Given the description of an element on the screen output the (x, y) to click on. 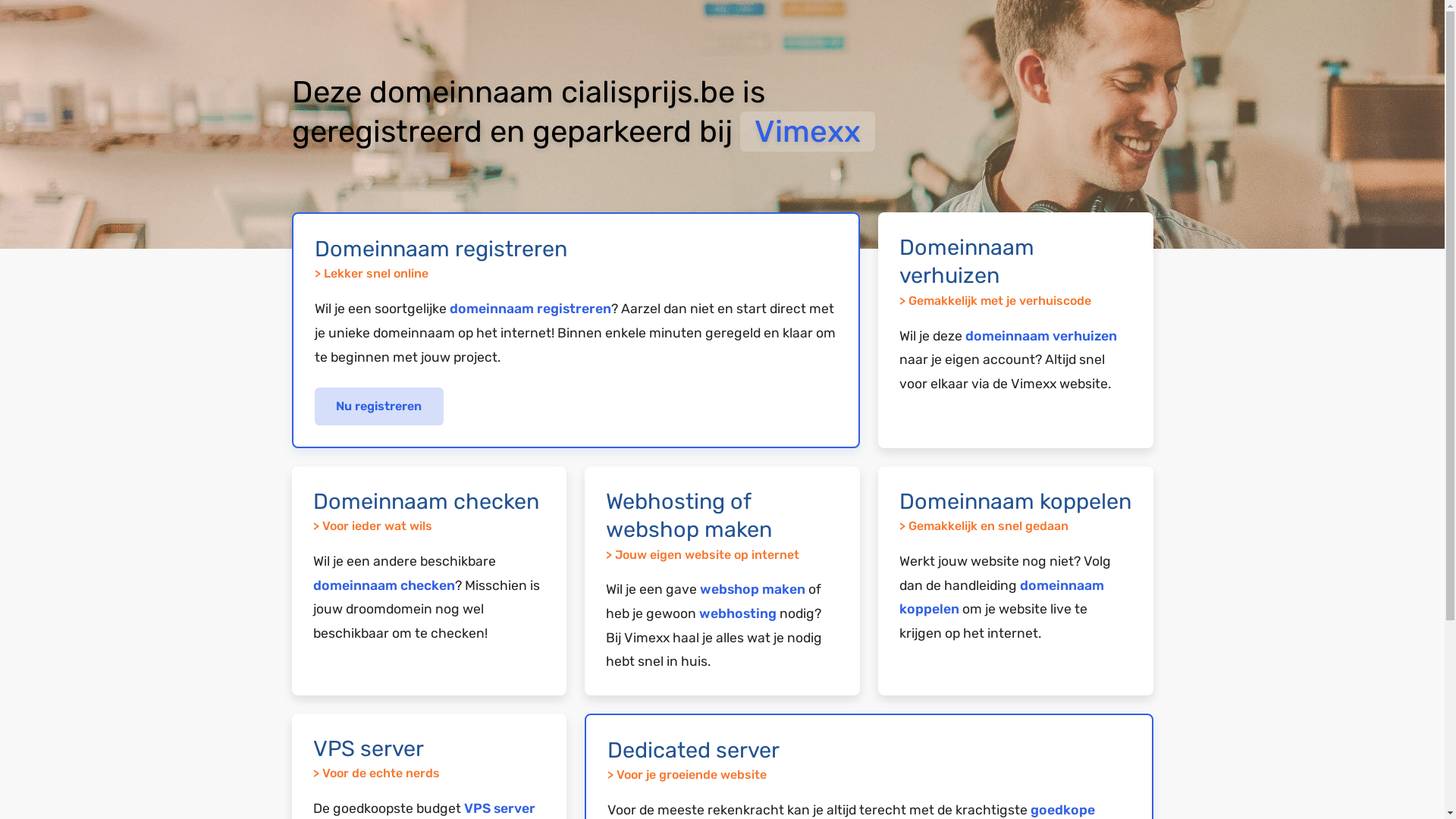
Vimexx Element type: text (807, 131)
Nu registreren Element type: text (378, 406)
domeinnaam checken Element type: text (383, 585)
VPS server Element type: text (499, 807)
webhosting Element type: text (737, 613)
domeinnaam koppelen Element type: text (1001, 597)
webshop maken Element type: text (752, 588)
domeinnaam verhuizen Element type: text (1041, 335)
domeinnaam registreren Element type: text (529, 308)
